Given the description of an element on the screen output the (x, y) to click on. 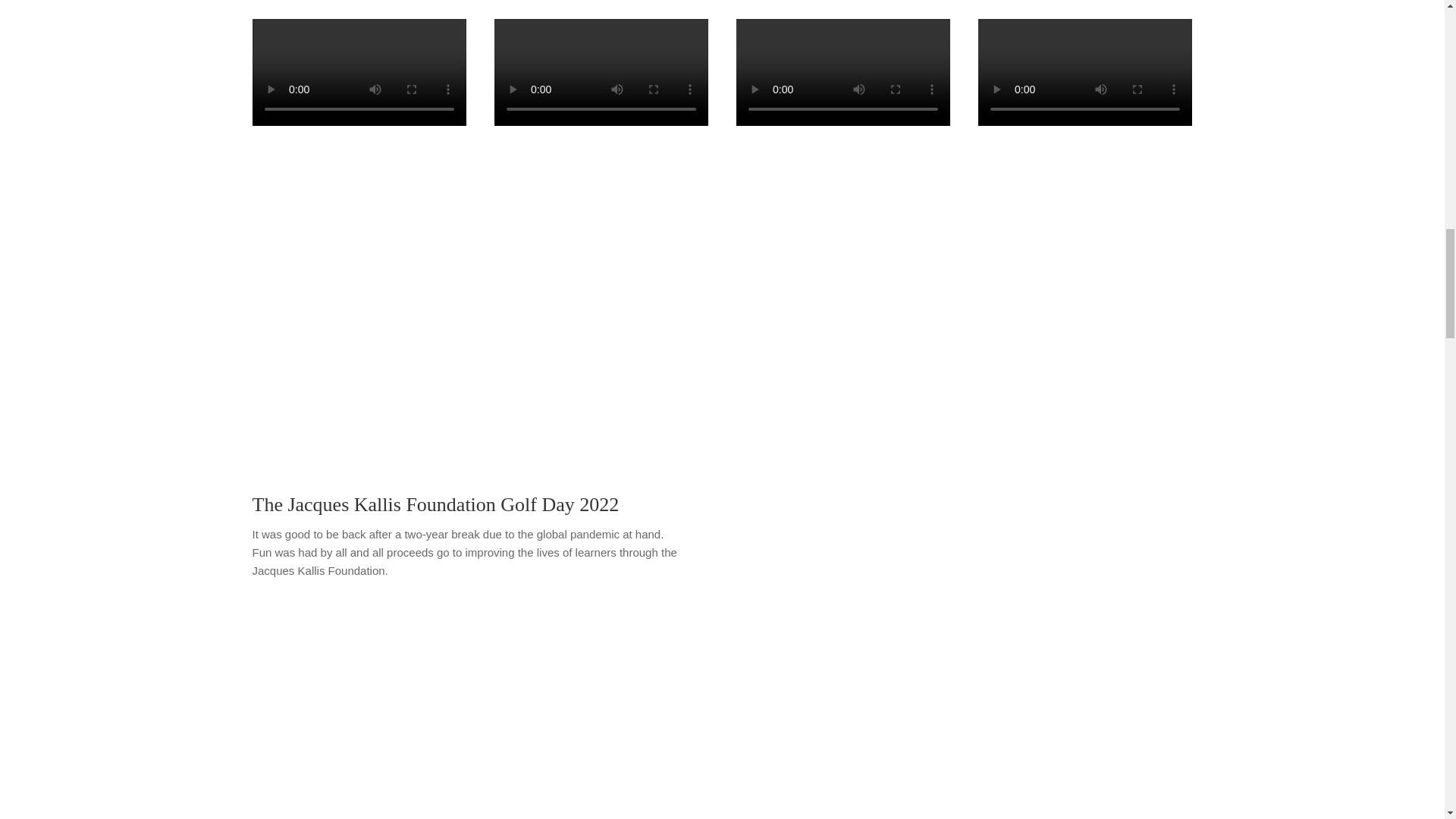
73b2a10 (796, 371)
25a3952 (647, 371)
